Given the description of an element on the screen output the (x, y) to click on. 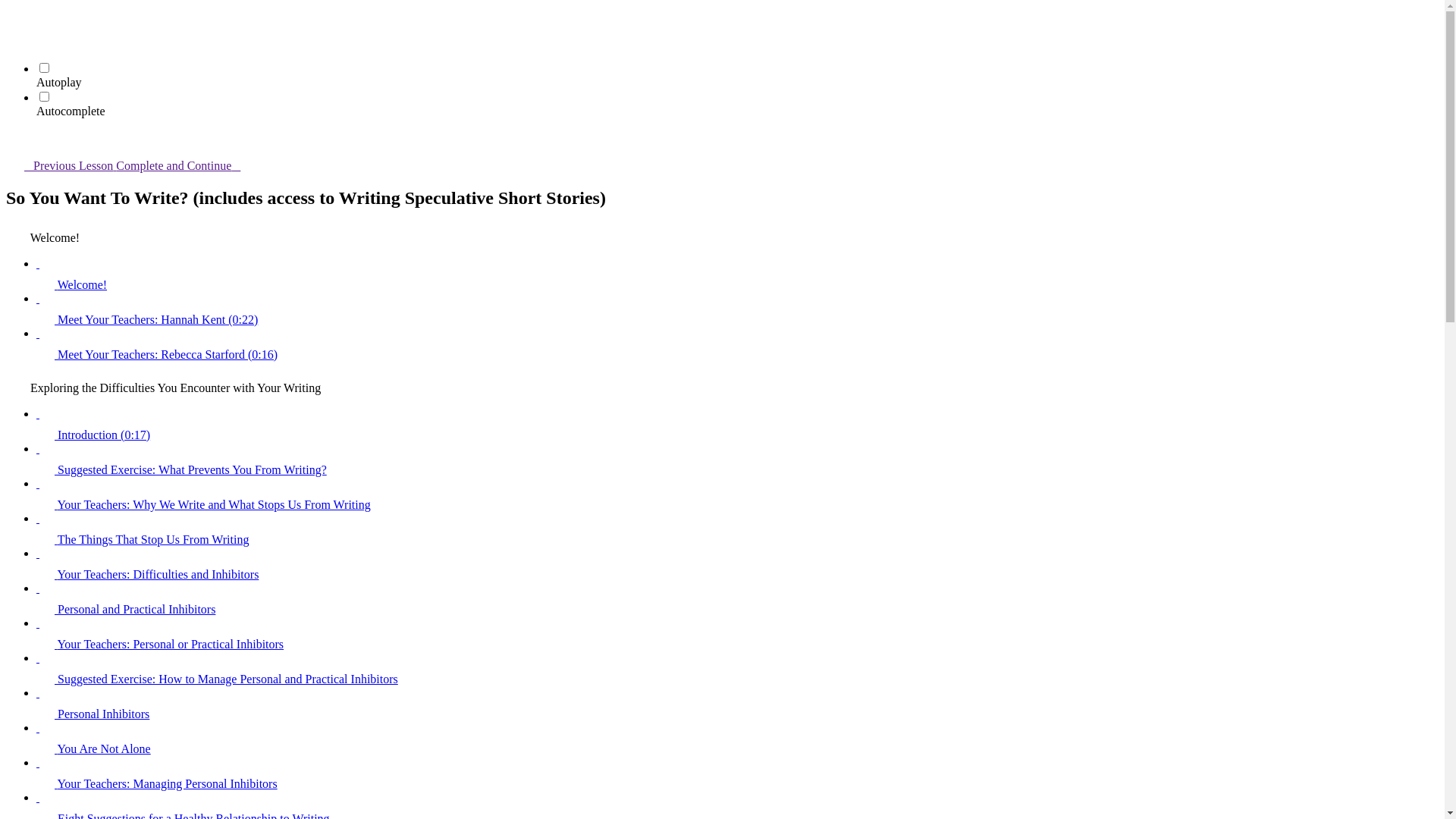
  Your Teachers: Managing Personal Inhibitors Element type: text (737, 773)
  The Things That Stop Us From Writing Element type: text (737, 528)
  Previous Lesson Element type: text (61, 165)
  Suggested Exercise: What Prevents You From Writing? Element type: text (737, 459)
  Meet Your Teachers: Hannah Kent (0:22) Element type: text (737, 308)
  Personal and Practical Inhibitors Element type: text (737, 598)
  Your Teachers: Difficulties and Inhibitors Element type: text (737, 563)
  Introduction (0:17) Element type: text (737, 424)
  Your Teachers: Personal or Practical Inhibitors Element type: text (737, 633)
  Personal Inhibitors Element type: text (737, 703)
Settings Menu Element type: hover (15, 36)
  Your Teachers: Why We Write and What Stops Us From Writing Element type: text (737, 493)
  Meet Your Teachers: Rebecca Starford (0:16) Element type: text (737, 343)
Complete and Continue   Element type: text (187, 165)
  Welcome! Element type: text (737, 274)
Course Sidebar Element type: hover (15, 139)
Back to course curriculum Element type: hover (15, 15)
  You Are Not Alone Element type: text (737, 738)
